Given the description of an element on the screen output the (x, y) to click on. 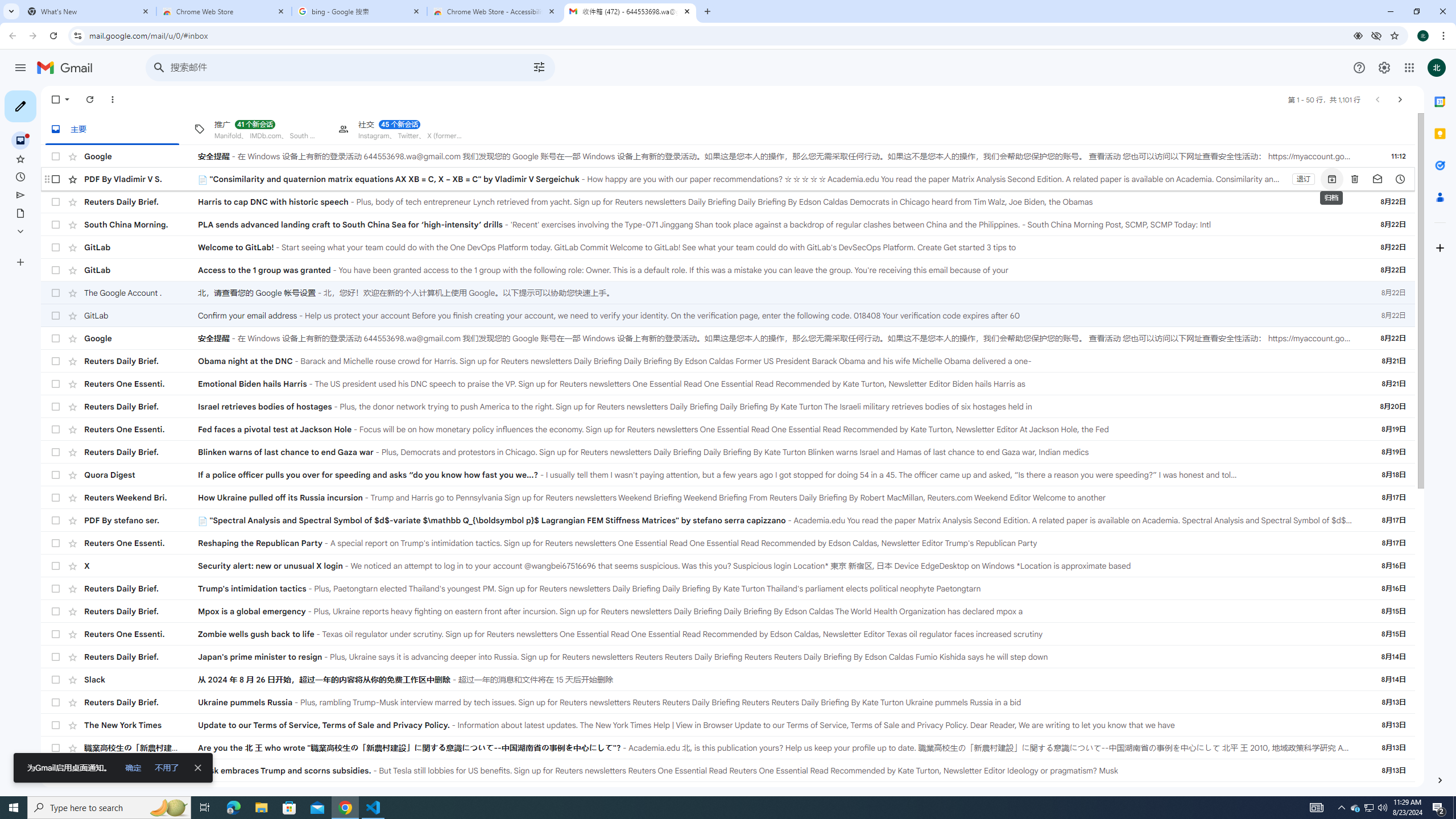
AutomationID: \:2s (1366, 179)
Tasks (1439, 165)
